Given the description of an element on the screen output the (x, y) to click on. 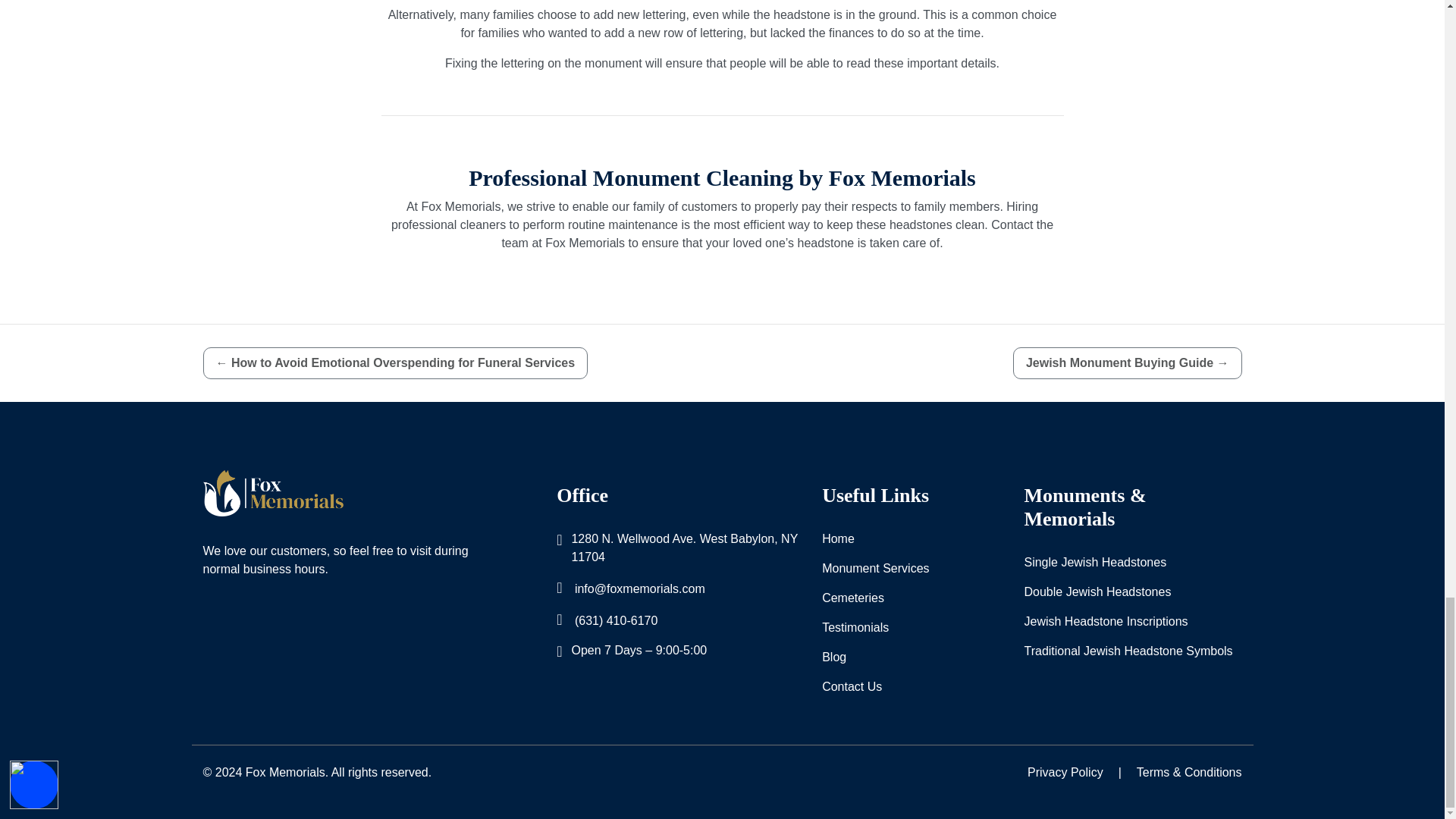
Jewish Headstone Inscriptions (1105, 621)
Privacy Policy (1065, 771)
How to Avoid Emotional Overspending for Funeral Services (395, 363)
Double Jewish Headstones (1096, 592)
Testimonials (855, 628)
Home (838, 538)
Traditional Jewish Headstone Symbols (1127, 651)
Monument Services (875, 568)
Contact Us (852, 687)
Single Jewish Headstones (1094, 562)
Blog (833, 657)
Cemeteries (852, 597)
Jewish Monument Buying Guide (1127, 363)
